Given the description of an element on the screen output the (x, y) to click on. 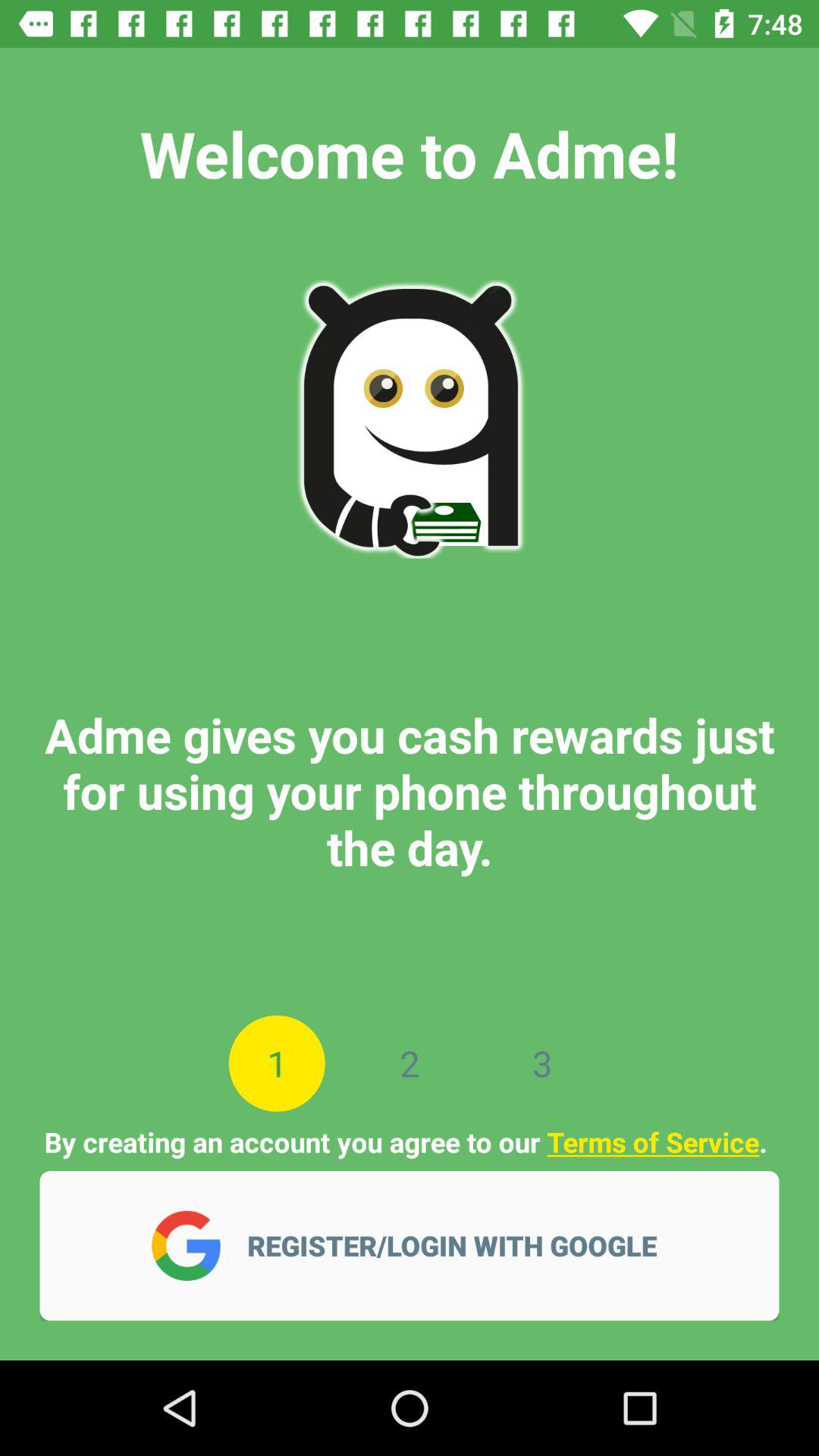
select the icon to the right of the 2 (542, 1063)
